Given the description of an element on the screen output the (x, y) to click on. 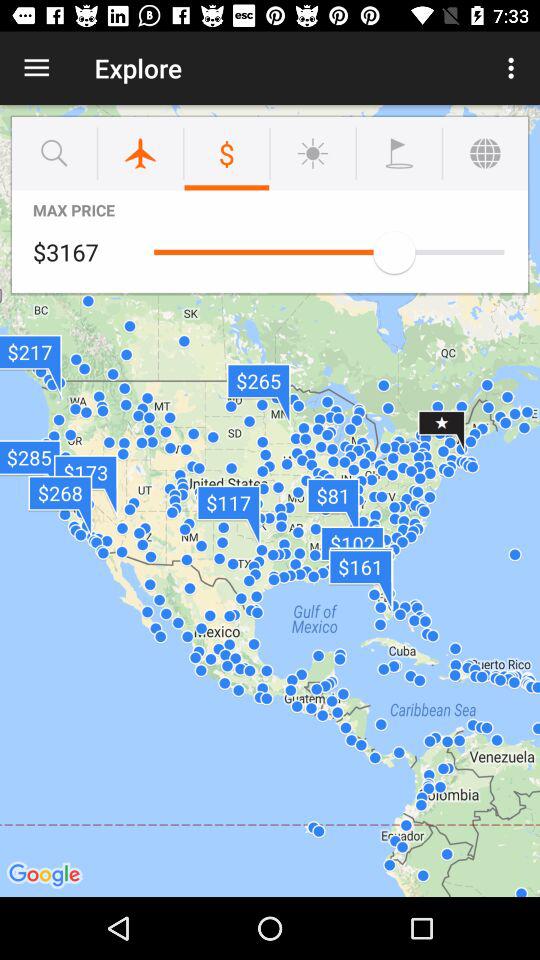
tap item next to explore (513, 67)
